Given the description of an element on the screen output the (x, y) to click on. 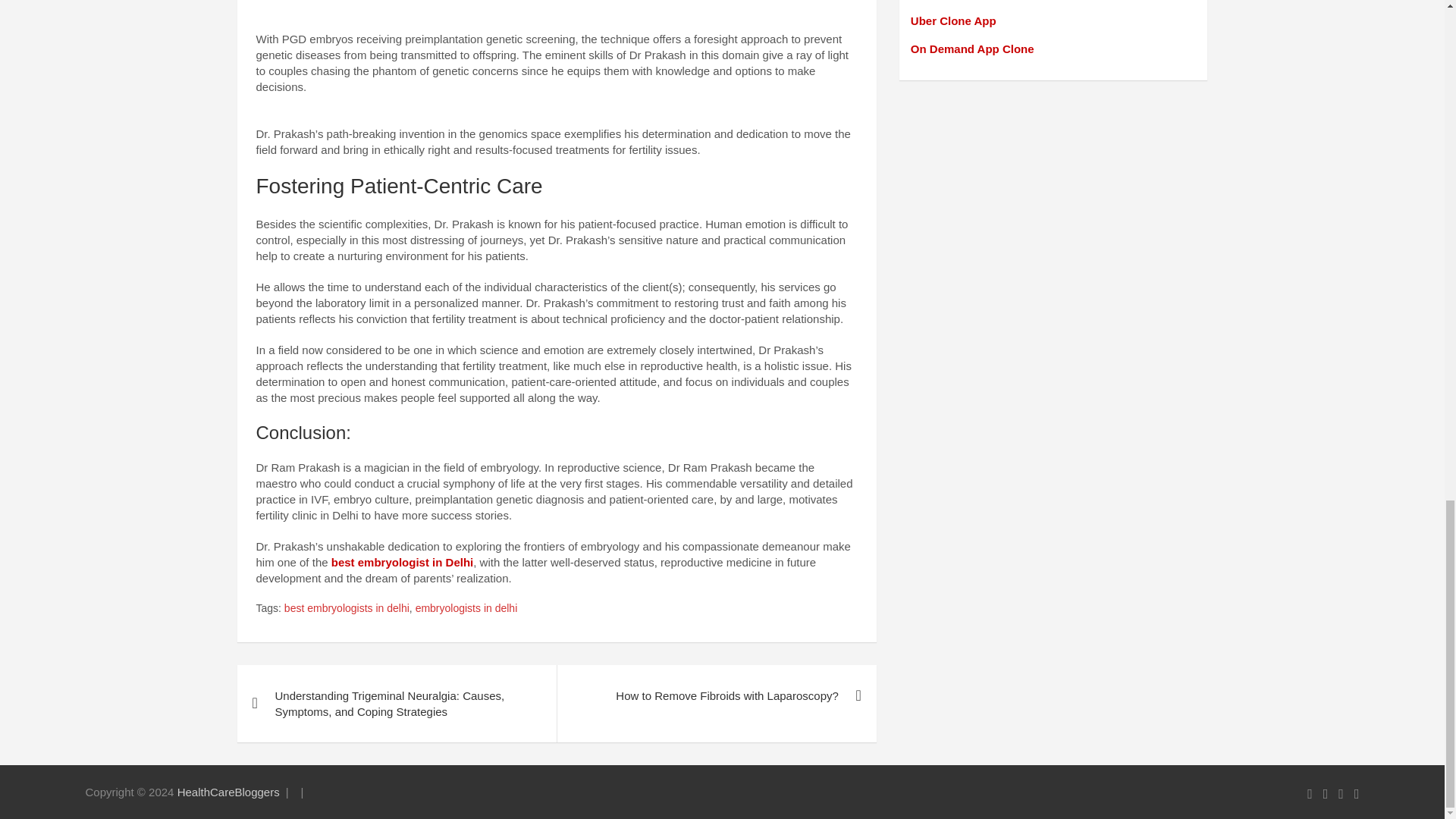
How to Remove Fibroids with Laparoscopy? (716, 695)
best embryologist in Delhi (402, 562)
embryologists in delhi (466, 608)
best embryologists in delhi (346, 608)
HealthCareBloggers (228, 791)
